Given the description of an element on the screen output the (x, y) to click on. 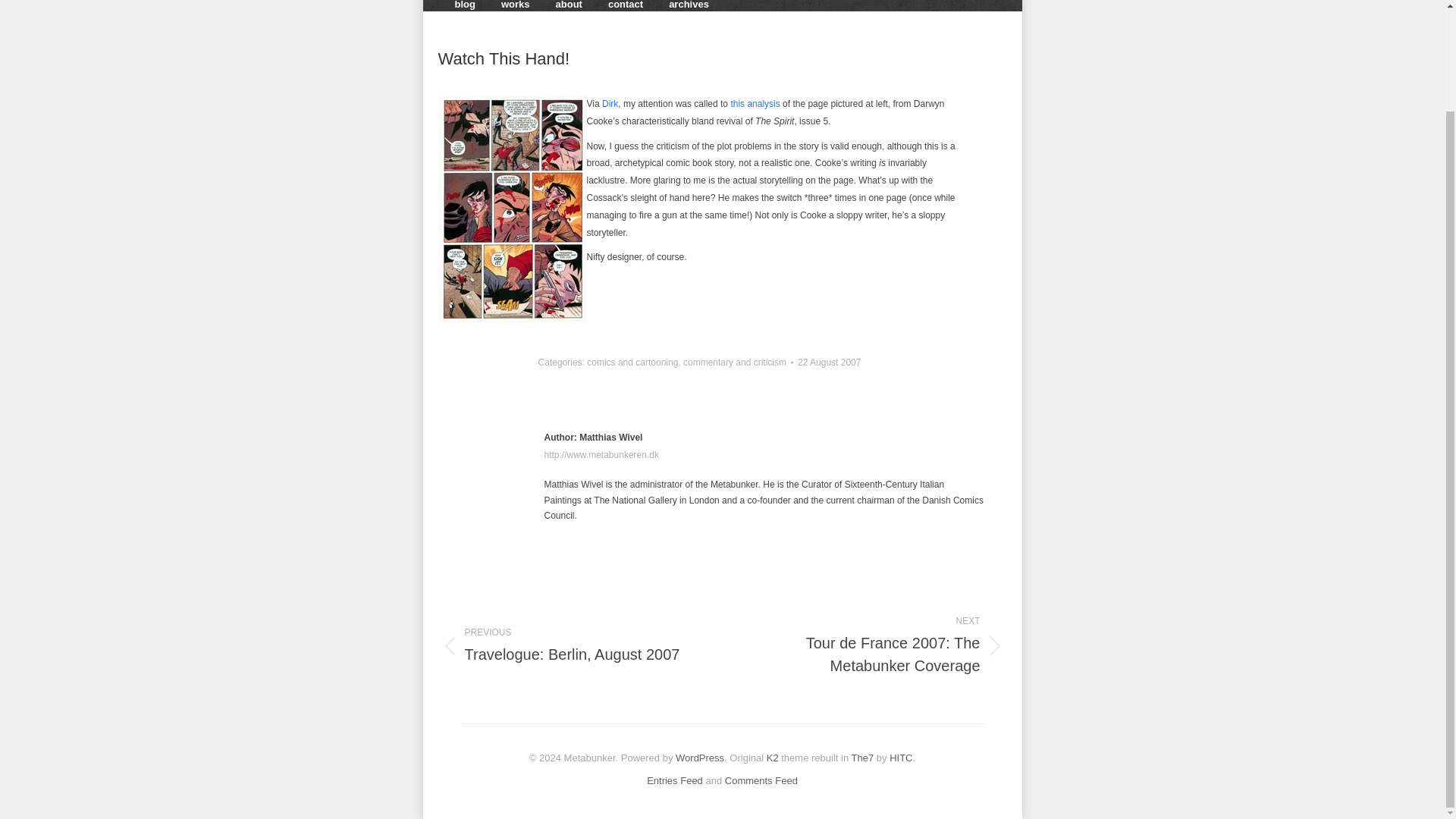
The7 (863, 757)
14:58 (828, 362)
Comments Feed (761, 780)
HITC (900, 757)
Dirk (609, 103)
Entries Feed (674, 780)
commentary and criticism (734, 362)
contact (625, 7)
works (515, 7)
about (569, 7)
blog (464, 7)
22 August 2007 (569, 646)
K2 (828, 362)
this analysis (772, 757)
